Given the description of an element on the screen output the (x, y) to click on. 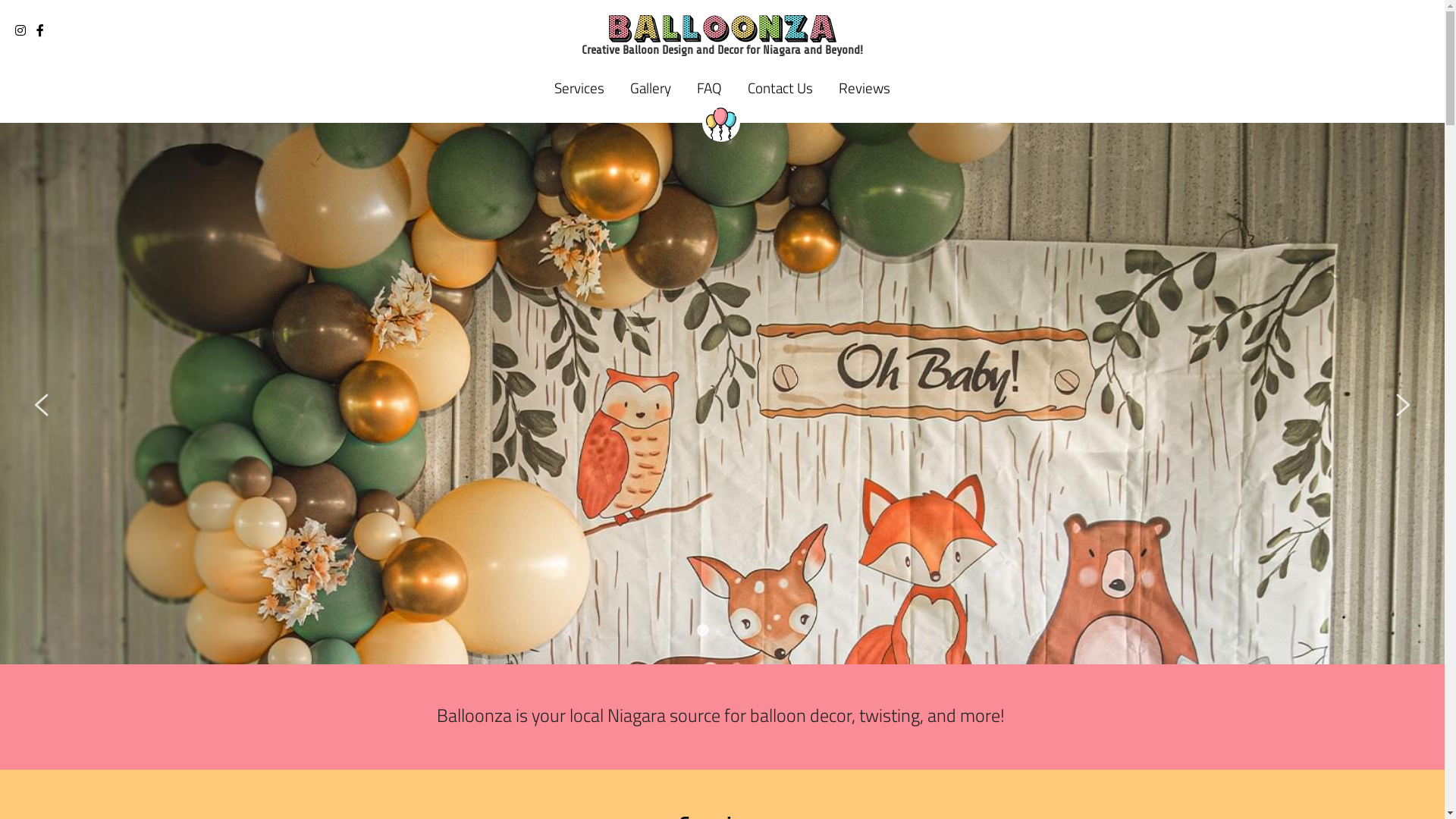
Contact Us Element type: text (779, 87)
Gallery Element type: text (650, 87)
FAQ Element type: text (708, 87)
Reviews Element type: text (864, 87)
Services Element type: text (579, 87)
